Given the description of an element on the screen output the (x, y) to click on. 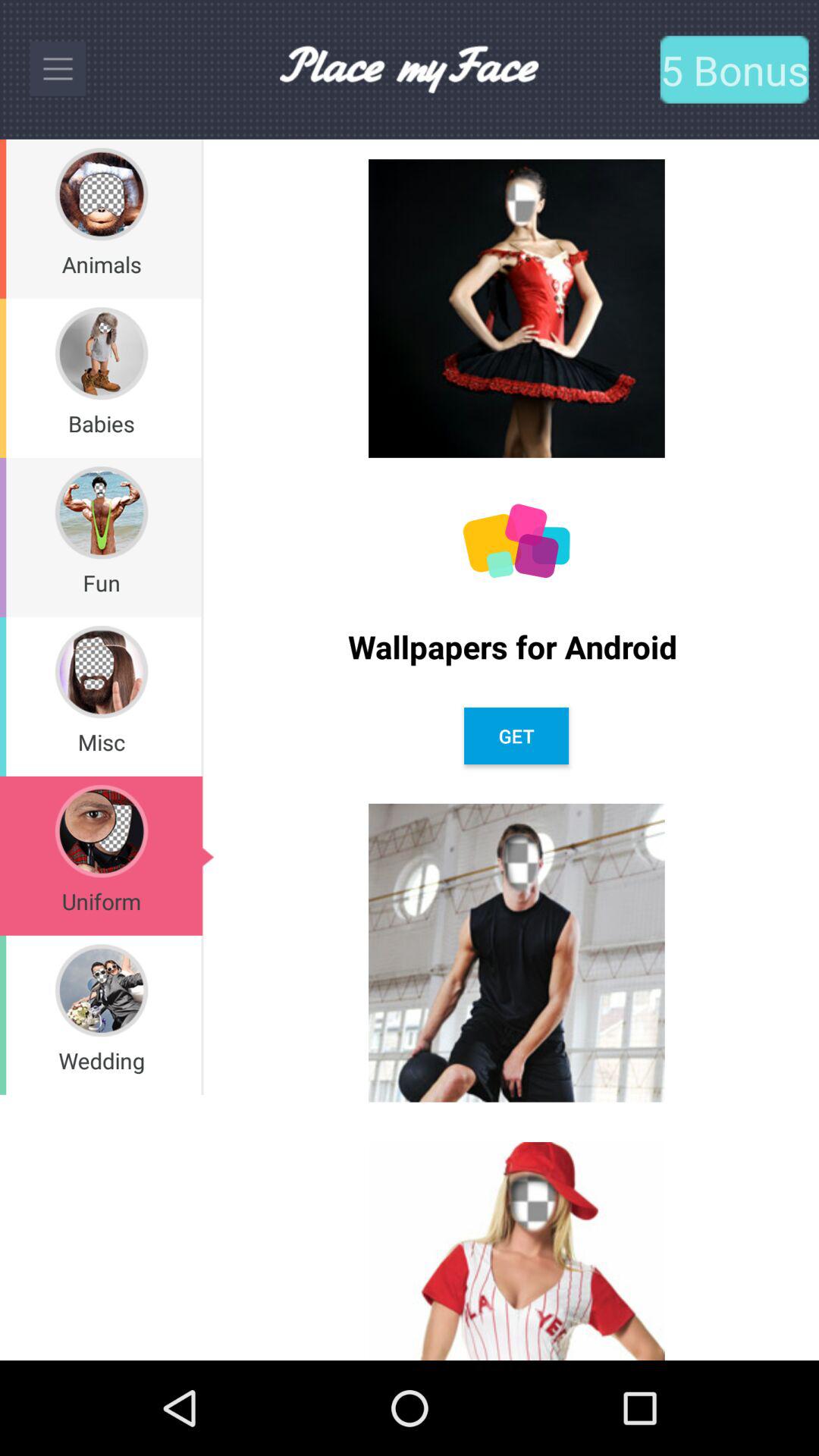
flip to the uniform (101, 901)
